Given the description of an element on the screen output the (x, y) to click on. 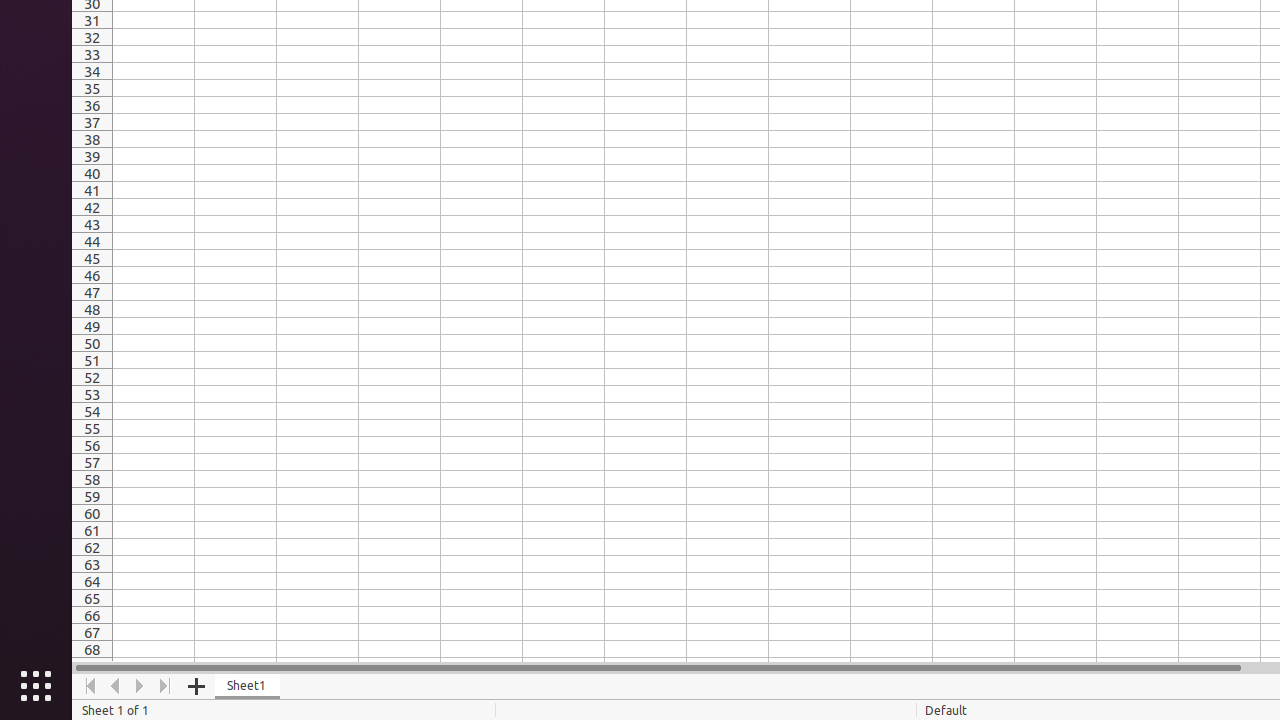
Sheet1 Element type: page-tab (247, 686)
